Given the description of an element on the screen output the (x, y) to click on. 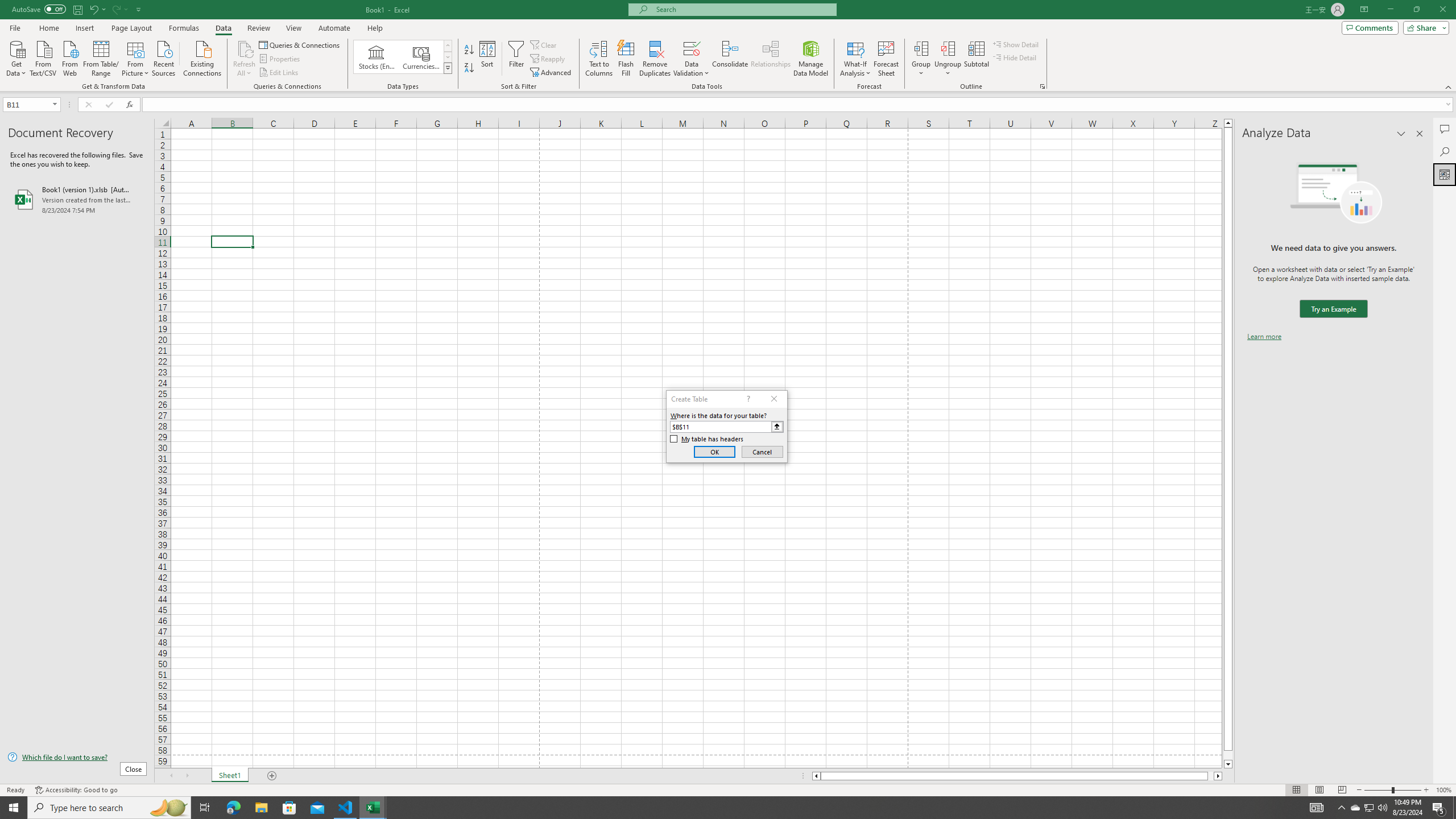
From Text/CSV (43, 57)
From Picture (135, 57)
Get Data (16, 57)
